Given the description of an element on the screen output the (x, y) to click on. 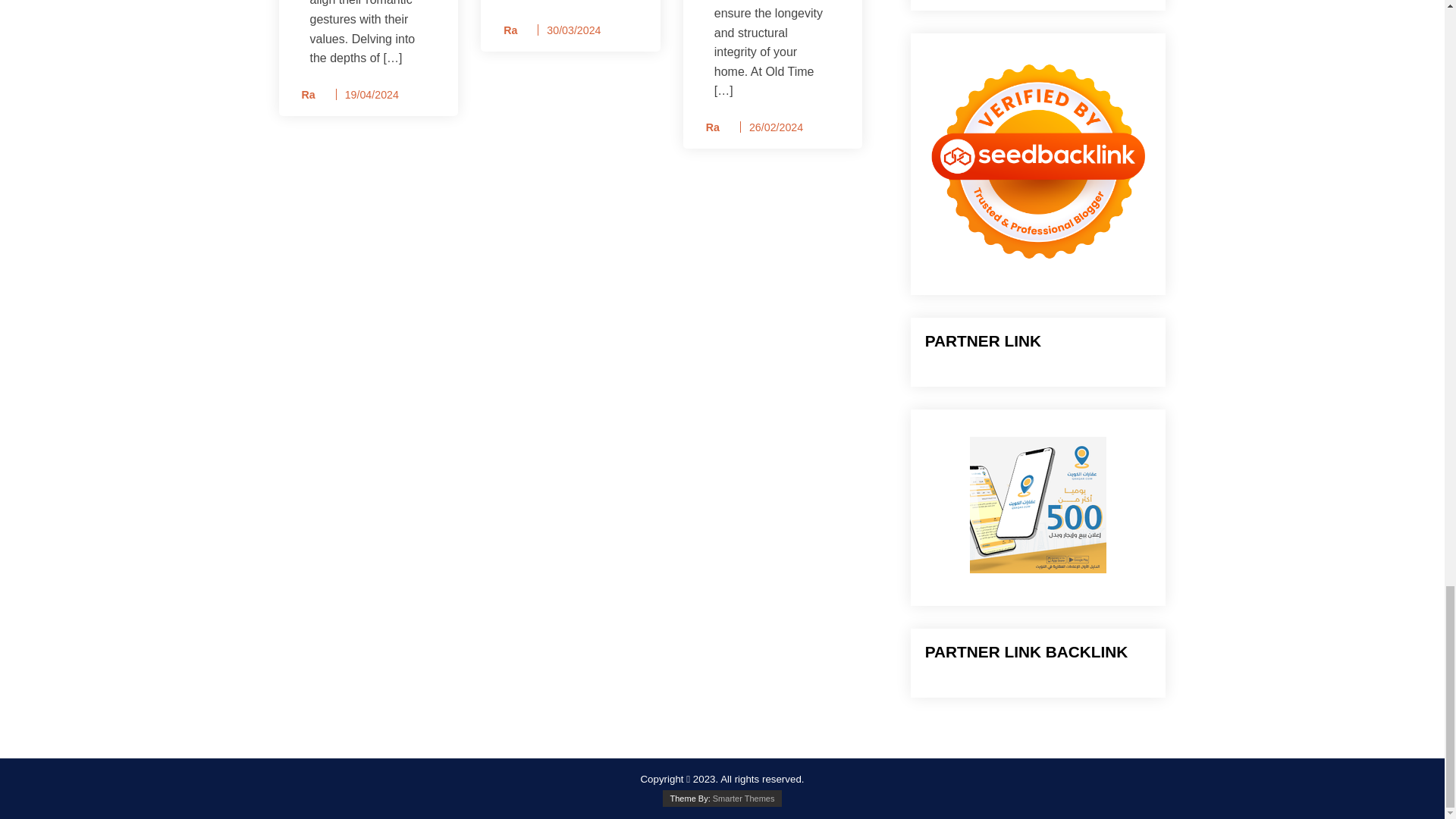
Seedbacklink (1037, 161)
Ra (504, 30)
Ra (303, 95)
